Given the description of an element on the screen output the (x, y) to click on. 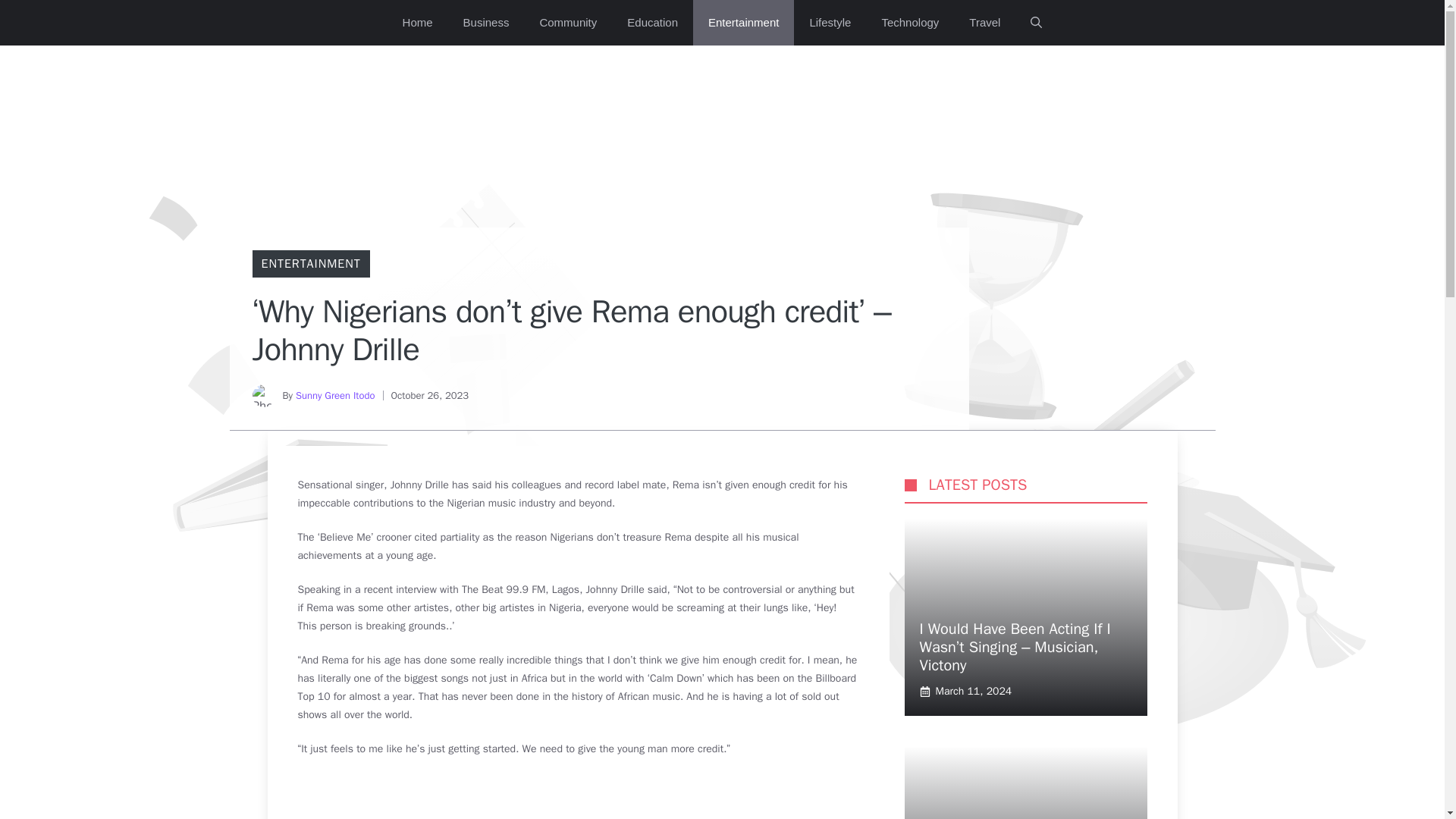
Community (567, 22)
Home (417, 22)
Travel (983, 22)
ENTERTAINMENT (309, 263)
Lifestyle (829, 22)
Business (486, 22)
Entertainment (743, 22)
Education (652, 22)
Sunny Green Itodo (335, 395)
Technology (909, 22)
